Given the description of an element on the screen output the (x, y) to click on. 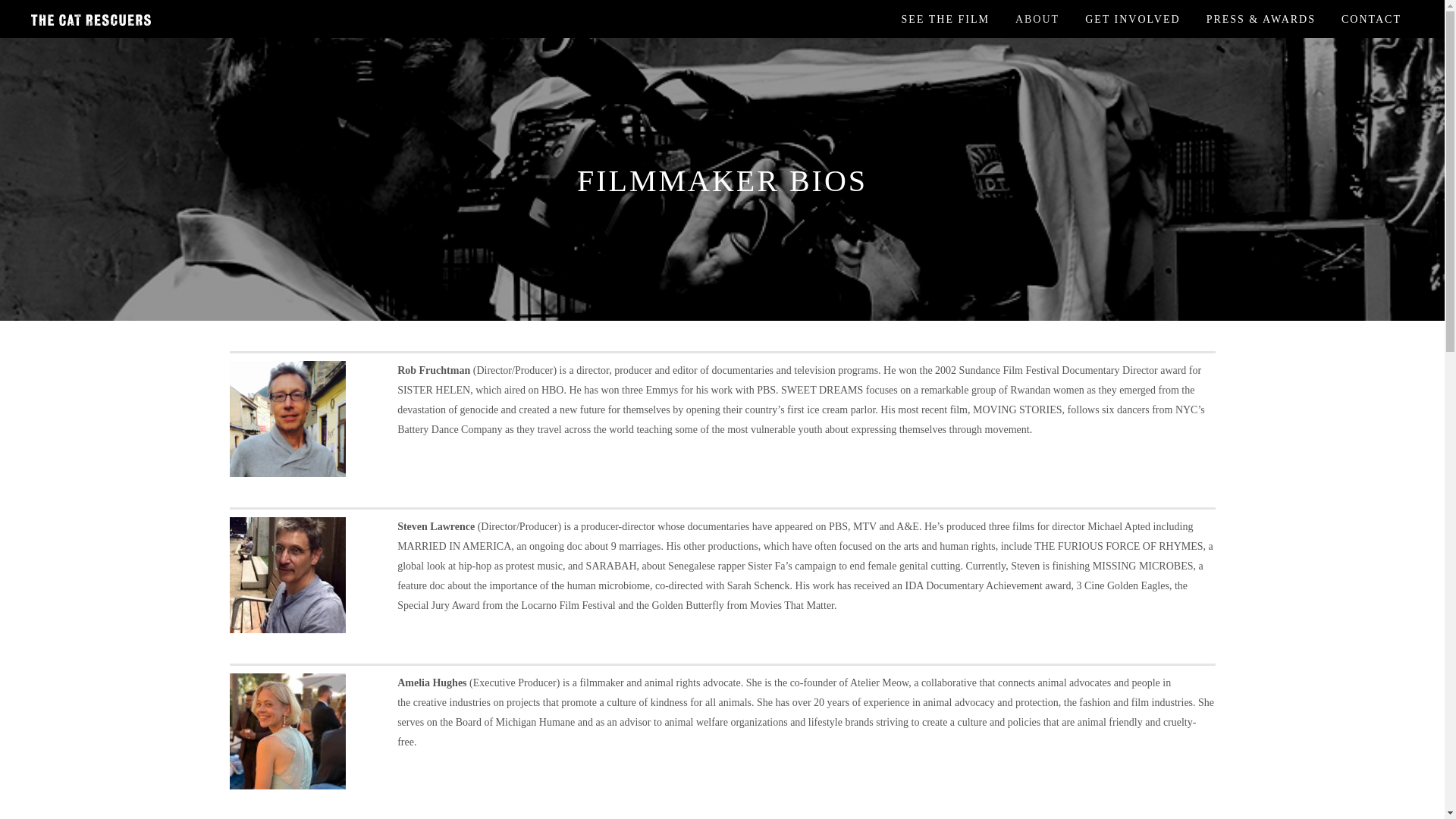
GET INVOLVED (1132, 18)
CONTACT (1370, 18)
Amelia Hughes (286, 731)
RF-bio-264x300 (286, 418)
SEE THE FILM (945, 18)
ABOUT (1037, 18)
SL Bio (286, 574)
